Given the description of an element on the screen output the (x, y) to click on. 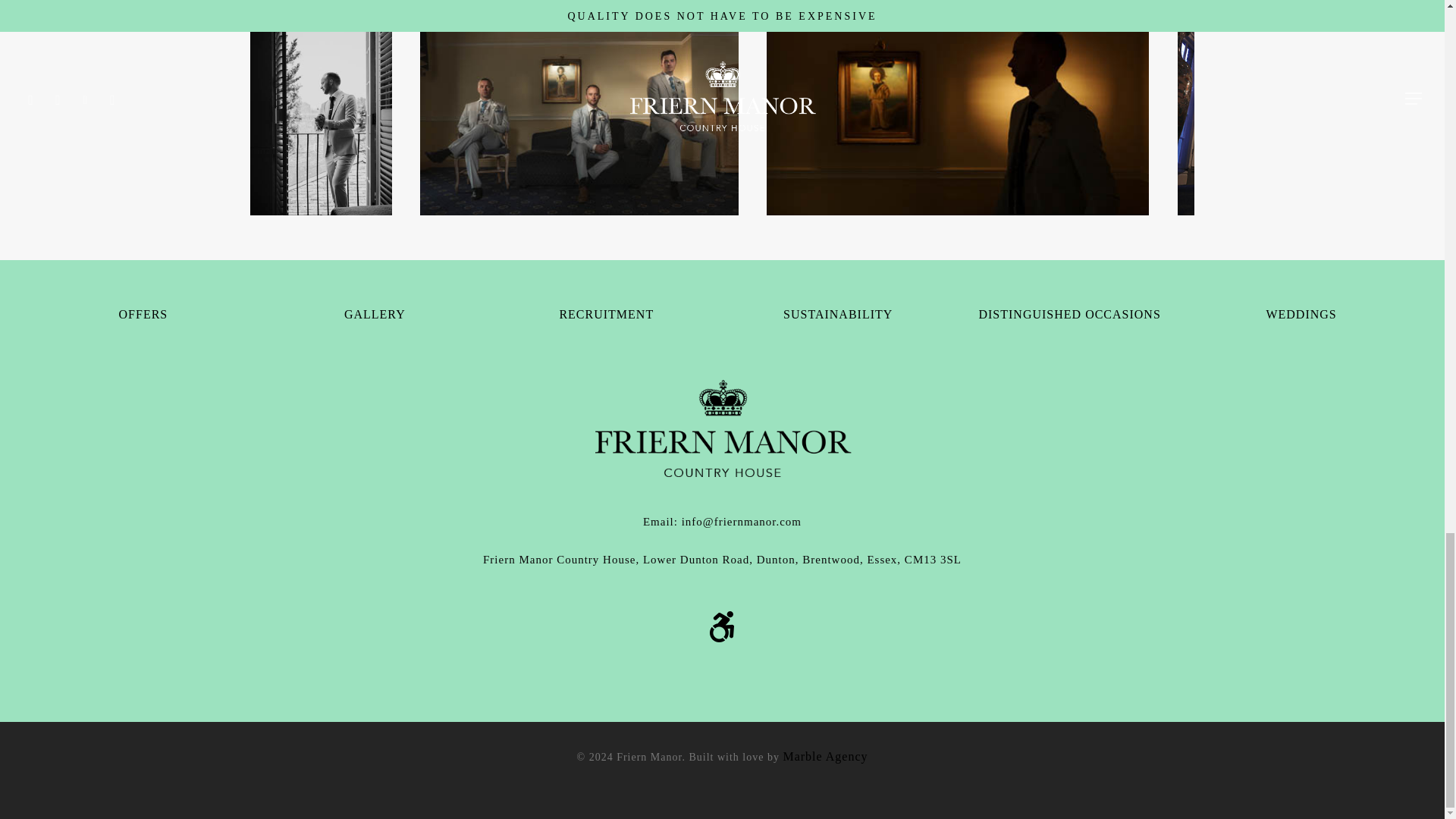
Marble Agency (825, 756)
GALLERY (374, 314)
SUSTAINABILITY (837, 314)
OFFERS (143, 314)
RECRUITMENT (606, 314)
WEDDINGS (1300, 314)
DISTINGUISHED OCCASIONS (1069, 314)
